Given the description of an element on the screen output the (x, y) to click on. 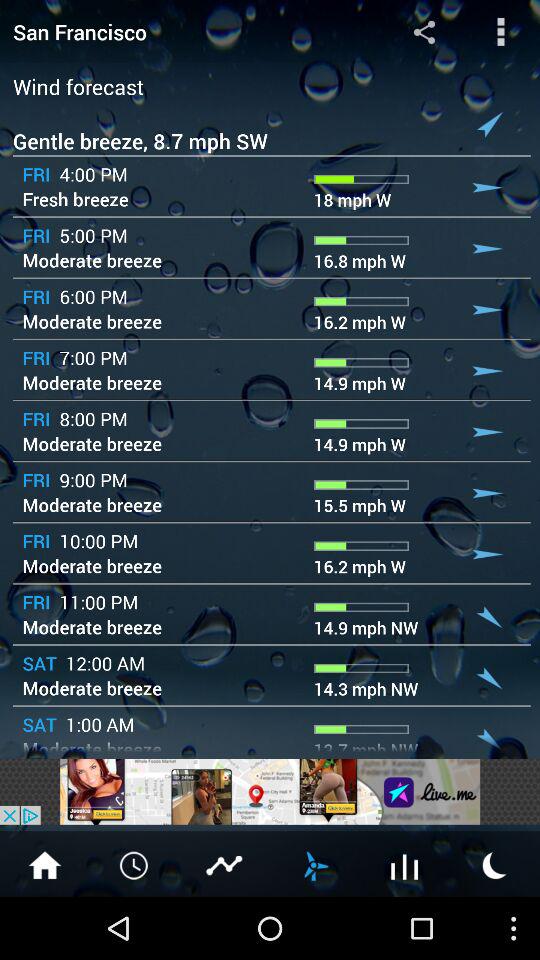
view more (405, 864)
